Given the description of an element on the screen output the (x, y) to click on. 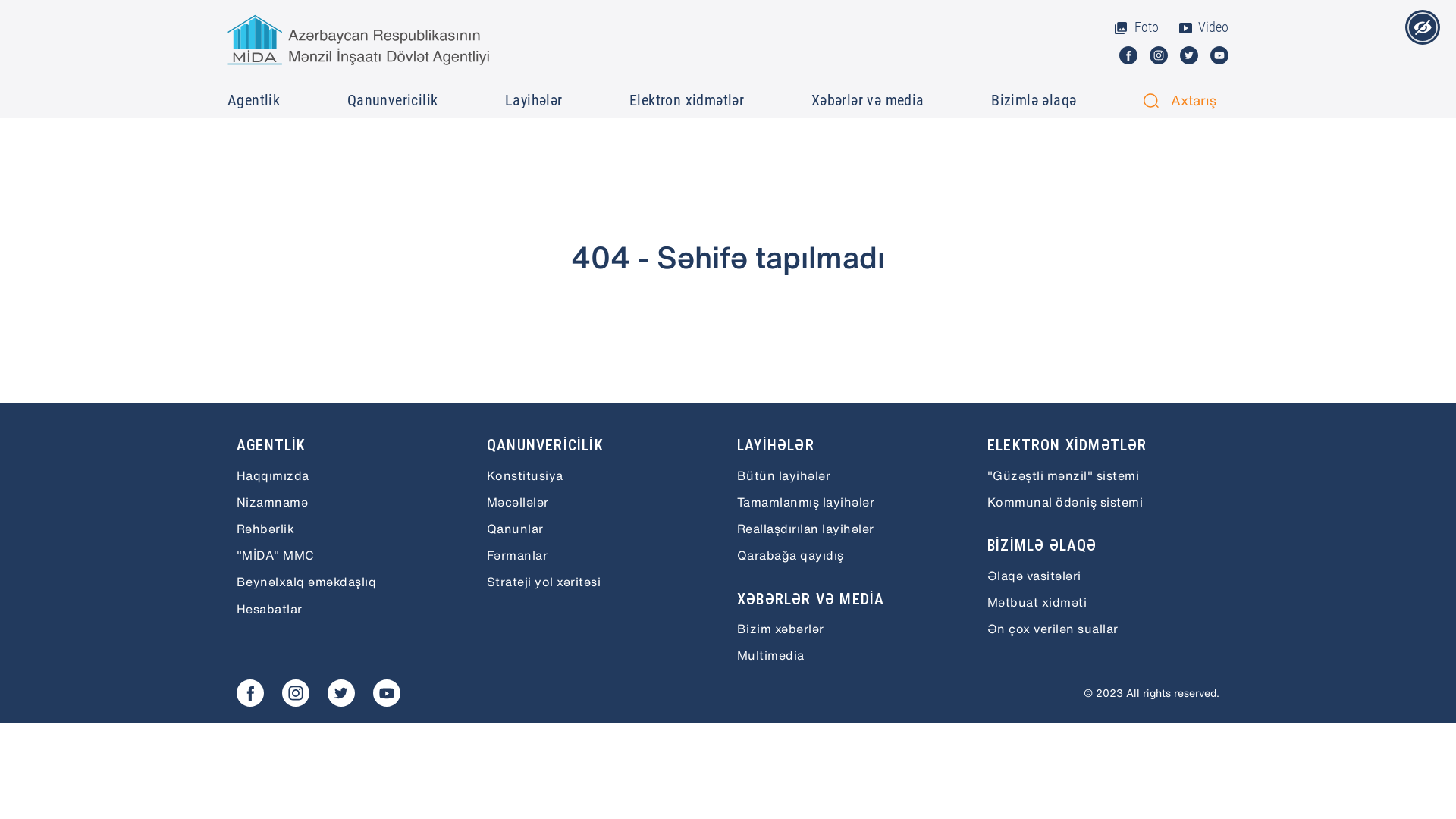
Konstitusiya Element type: text (602, 475)
Video Element type: text (1202, 27)
Agentlik Element type: text (255, 100)
Foto Element type: text (1135, 27)
Hesabatlar Element type: text (352, 608)
Multimedia Element type: text (853, 655)
Qanunvericilik Element type: text (394, 100)
Qanunlar Element type: text (602, 528)
